Given the description of an element on the screen output the (x, y) to click on. 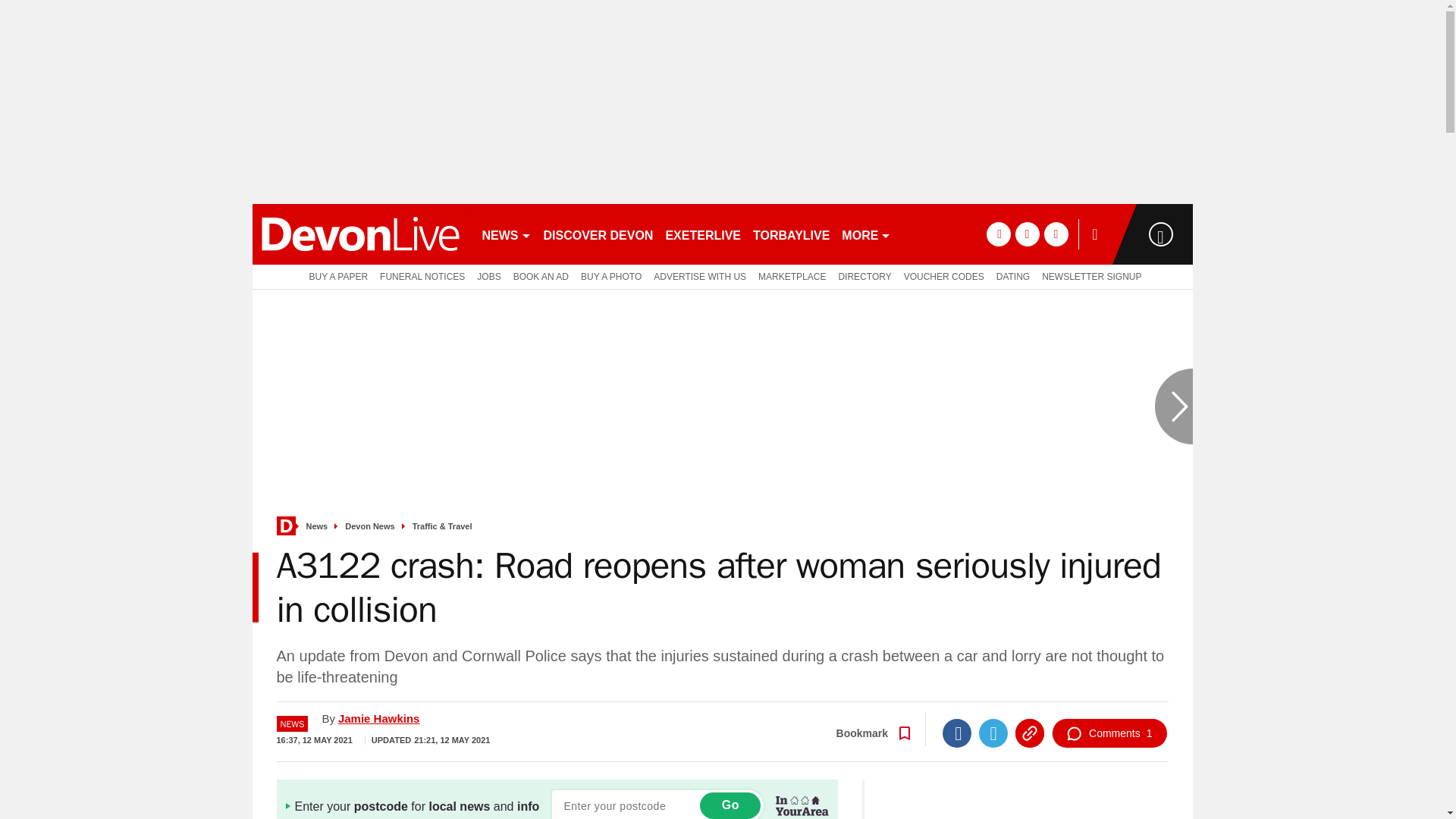
NEWS (506, 233)
DISCOVER DEVON (598, 233)
facebook (997, 233)
instagram (1055, 233)
TORBAYLIVE (790, 233)
EXETERLIVE (702, 233)
MORE (865, 233)
Comments (1108, 733)
Facebook (956, 733)
Twitter (992, 733)
